Given the description of an element on the screen output the (x, y) to click on. 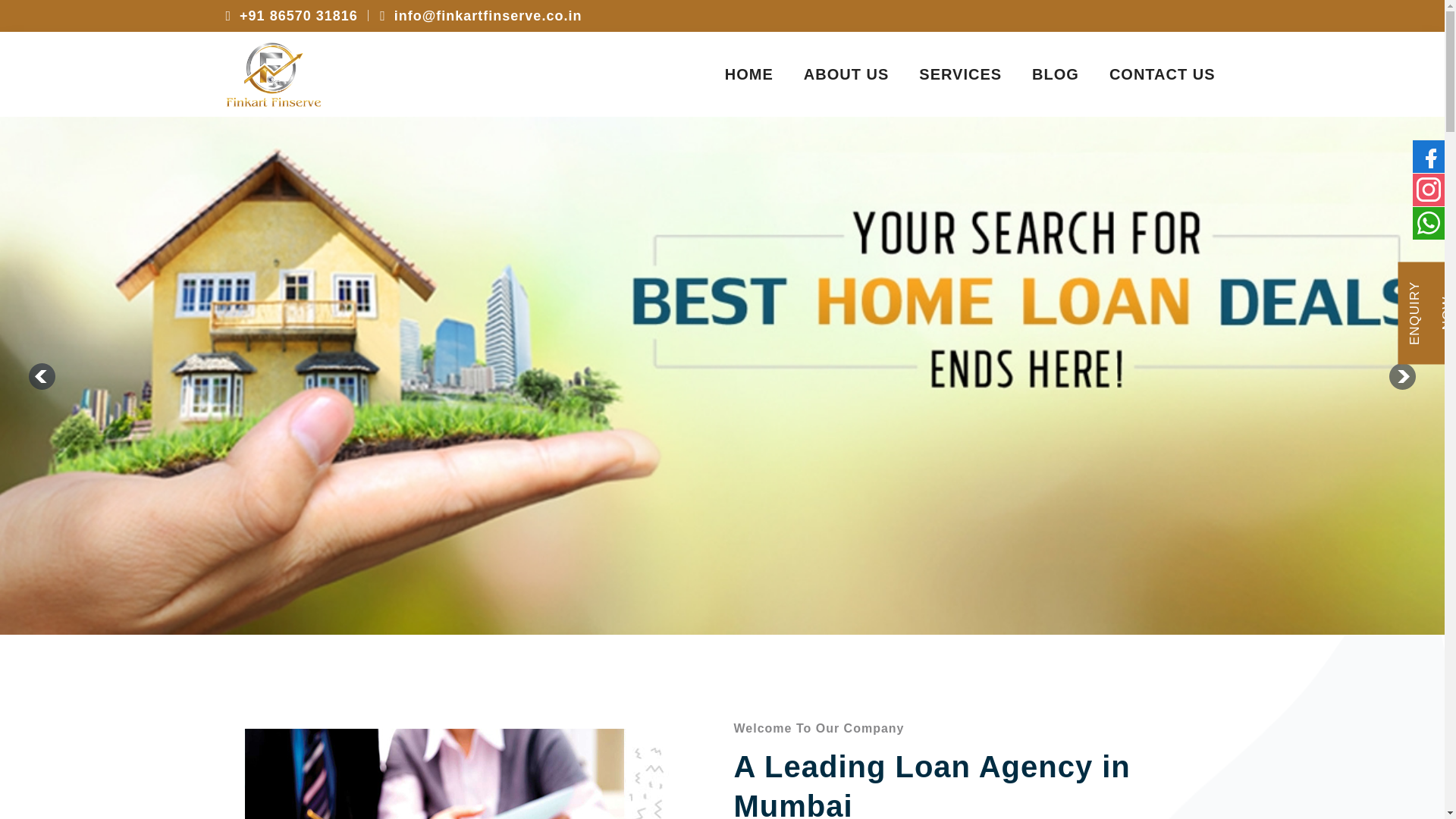
HOME (749, 74)
SERVICES (960, 74)
CONTACT US (970, 74)
Finkart Finserve (1162, 74)
BLOG (453, 764)
Finkart Finserve (1055, 74)
Instagram (273, 74)
Whatsapp (1428, 189)
Facebook (722, 74)
ABOUT US (1428, 222)
